Given the description of an element on the screen output the (x, y) to click on. 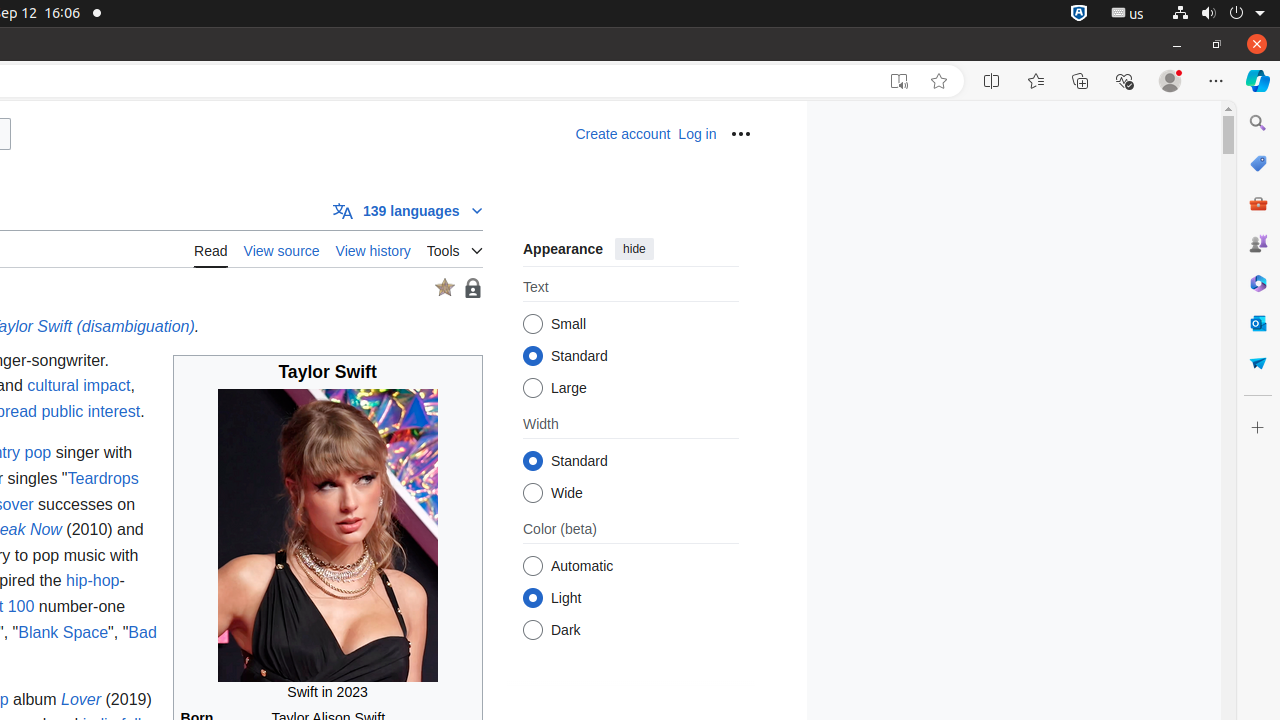
Large Element type: radio-button (532, 388)
Browser essentials Element type: push-button (1124, 81)
hip-hop Element type: link (93, 581)
Wide Element type: radio-button (532, 492)
Favorites Element type: push-button (1036, 81)
